Given the description of an element on the screen output the (x, y) to click on. 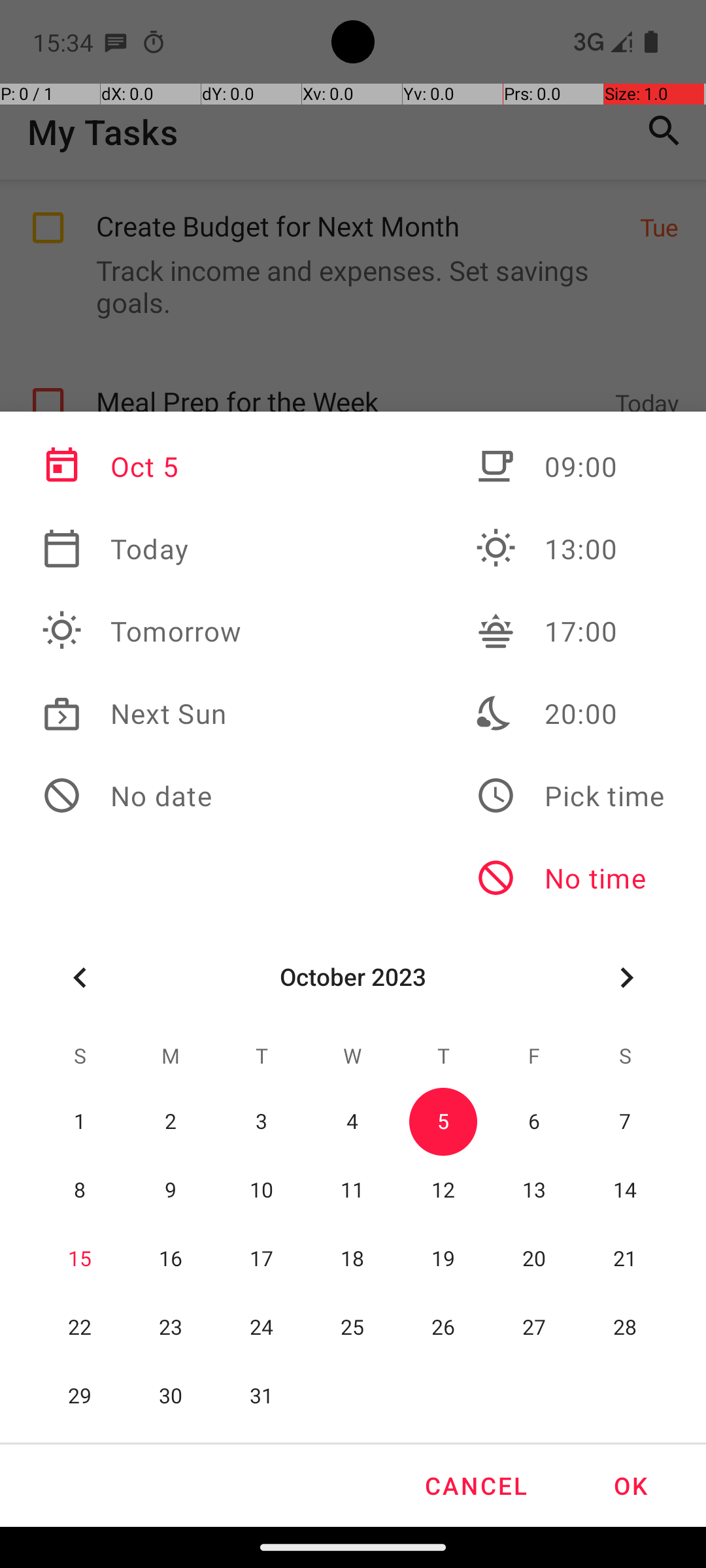
Oct 5 Element type: android.widget.CompoundButton (141, 466)
